Given the description of an element on the screen output the (x, y) to click on. 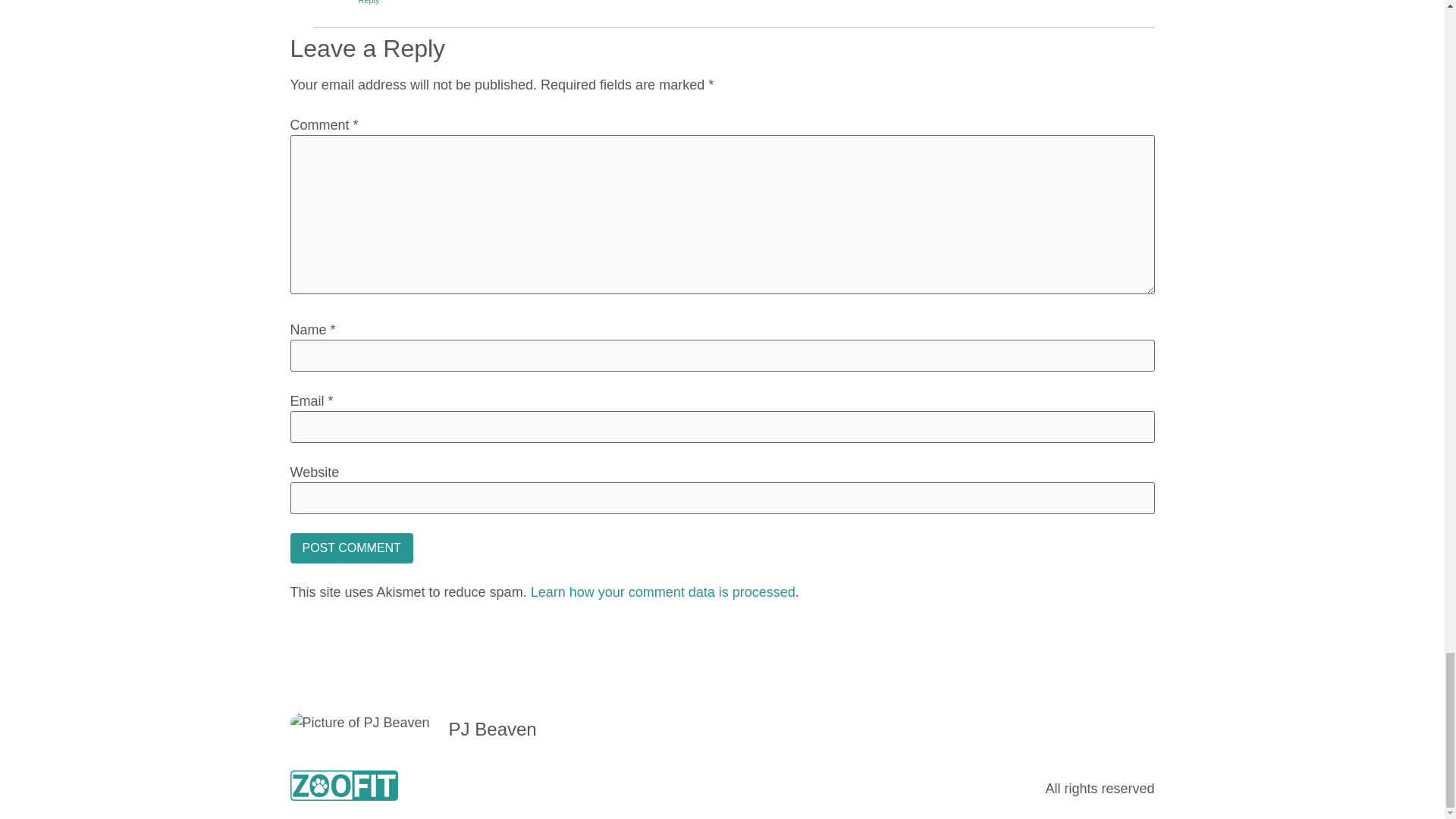
Post Comment (350, 548)
Post Comment (350, 548)
Learn how your comment data is processed (662, 591)
Reply (368, 2)
